Given the description of an element on the screen output the (x, y) to click on. 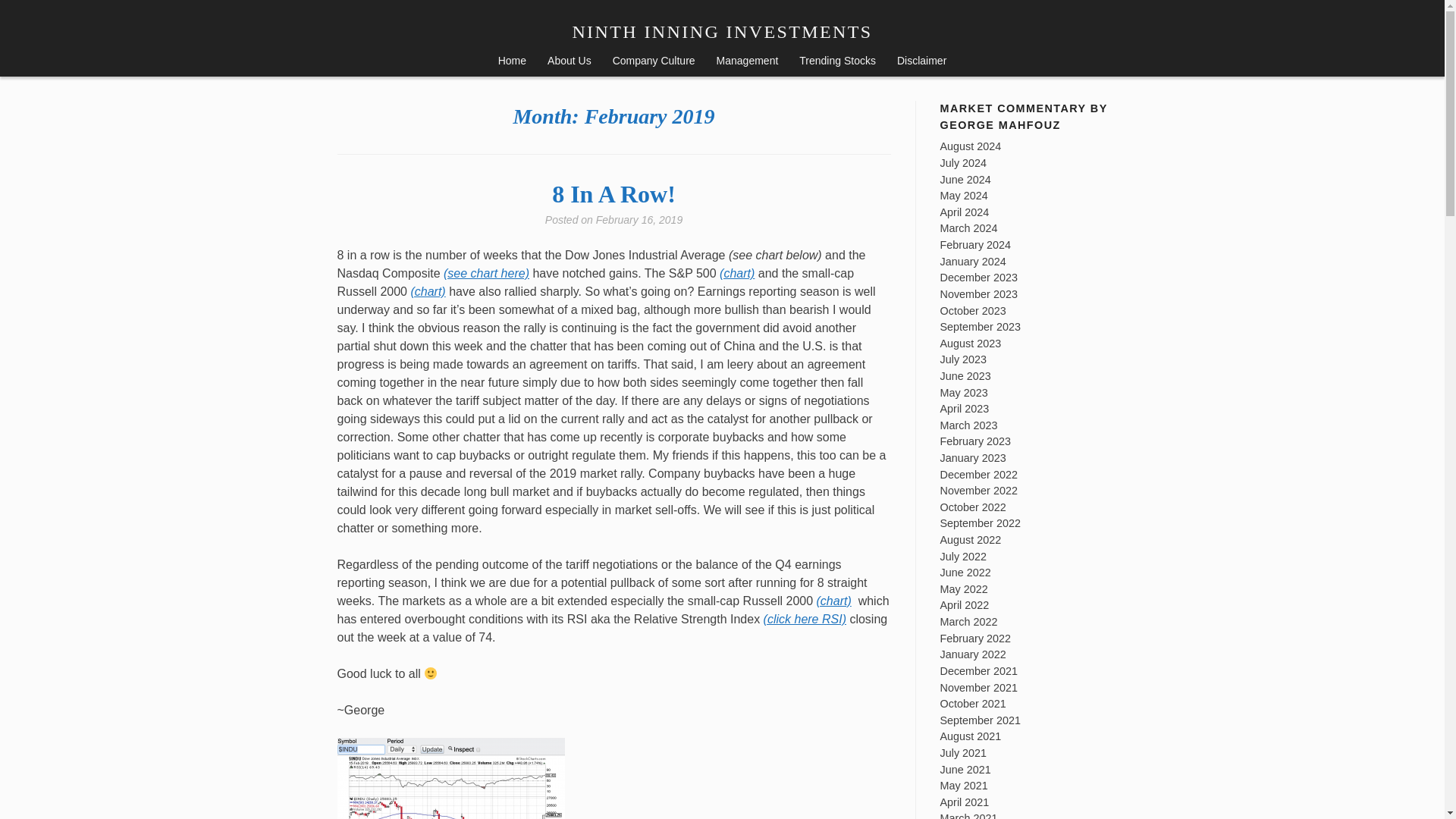
February 16, 2019 (638, 219)
Home (512, 61)
Disclaimer (921, 61)
8 In A Row! (613, 194)
Company Culture (654, 61)
Trending Stocks (837, 61)
NINTH INNING INVESTMENTS (722, 31)
About Us (569, 61)
Management (747, 61)
